Given the description of an element on the screen output the (x, y) to click on. 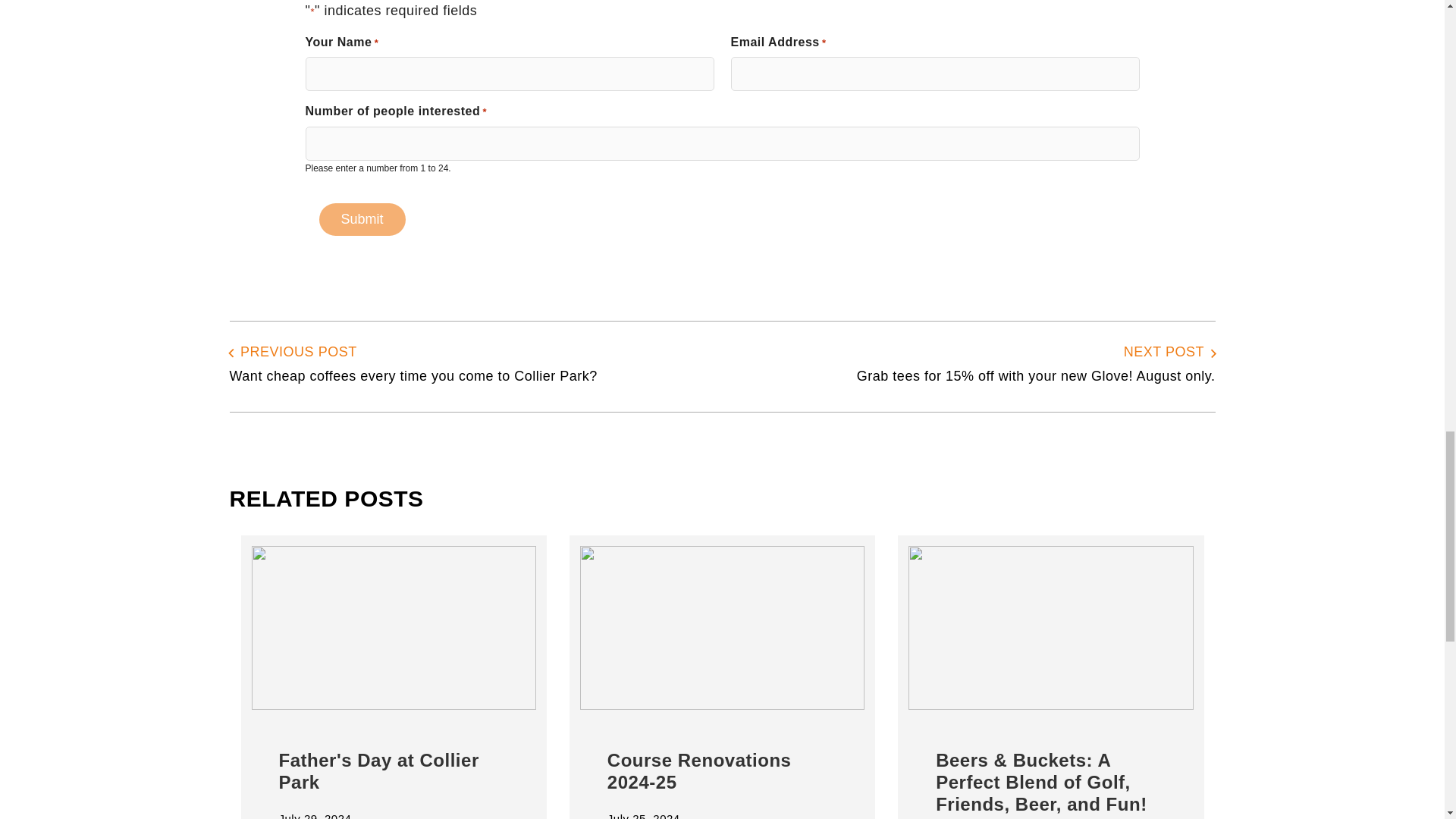
Submit (361, 219)
